Given the description of an element on the screen output the (x, y) to click on. 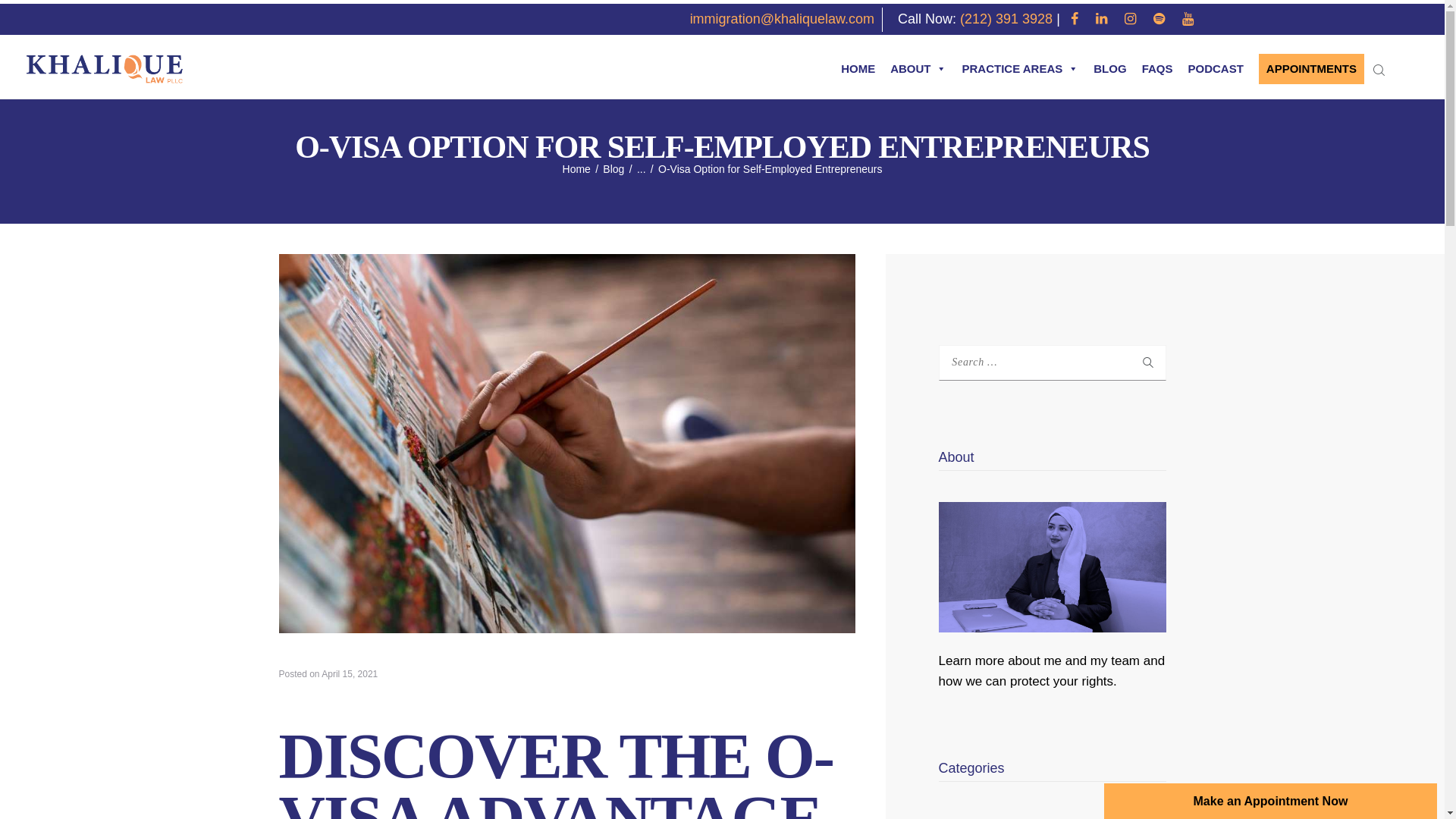
ABOUT (917, 69)
PRACTICE AREAS (1019, 69)
HOME (857, 69)
BLOG (1110, 69)
Search (1138, 362)
Search (1138, 362)
FAQS (1157, 69)
